Given the description of an element on the screen output the (x, y) to click on. 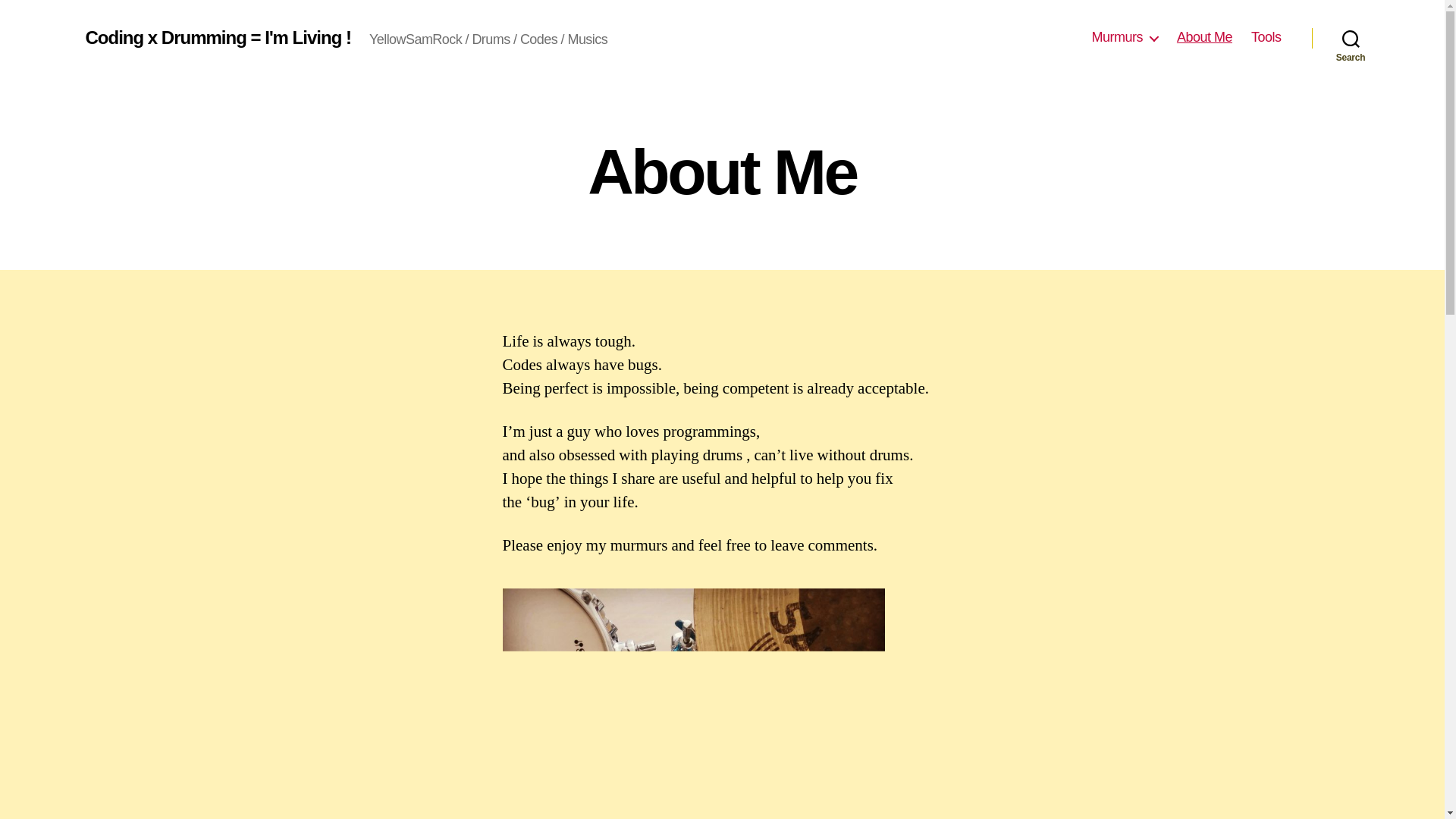
Murmurs (1123, 37)
Tools (1265, 37)
About Me (1203, 37)
Search (1350, 37)
